Given the description of an element on the screen output the (x, y) to click on. 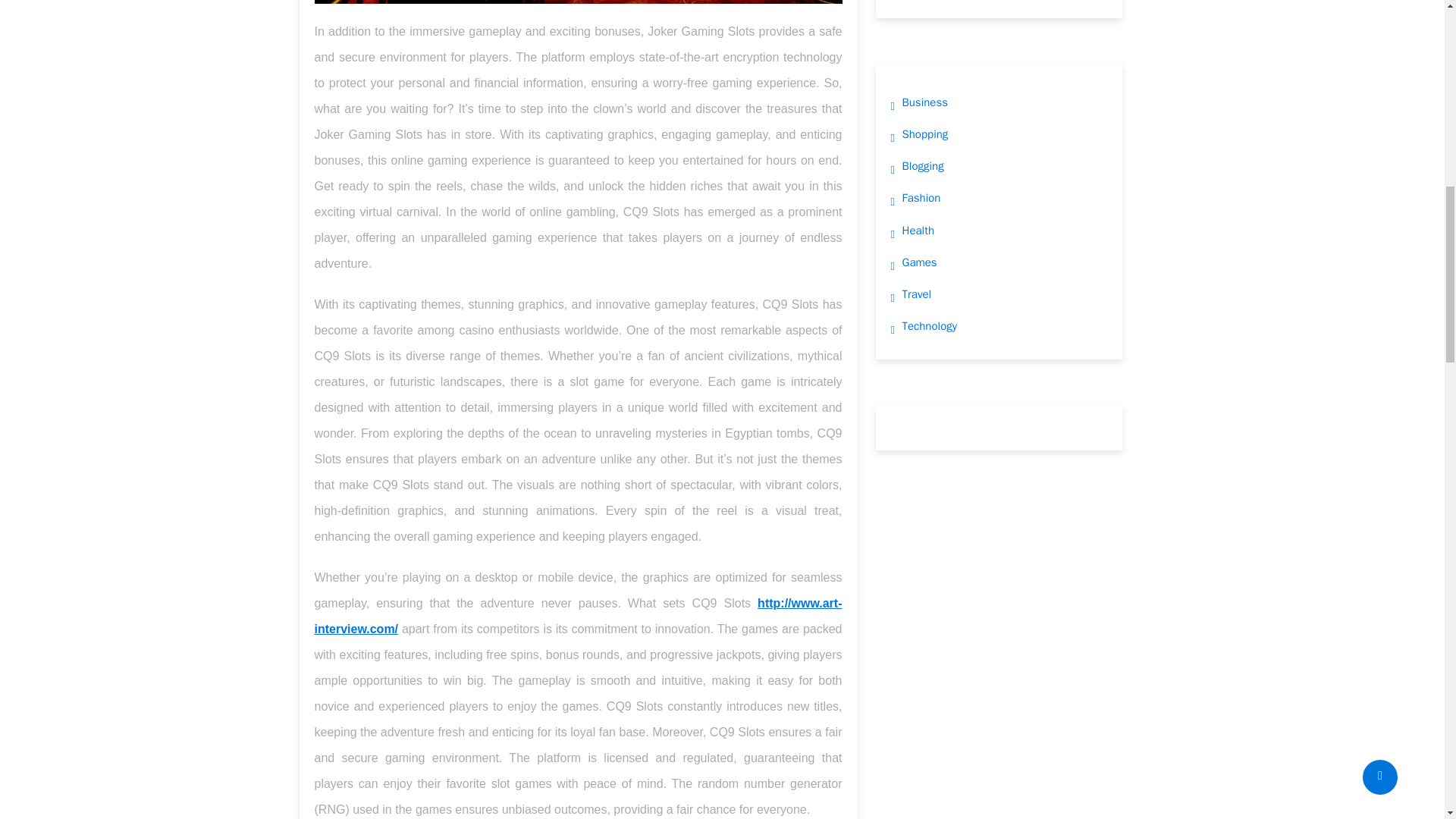
Fashion (921, 198)
Shopping (925, 134)
Blogging (922, 166)
Business (925, 102)
Health (918, 230)
